Given the description of an element on the screen output the (x, y) to click on. 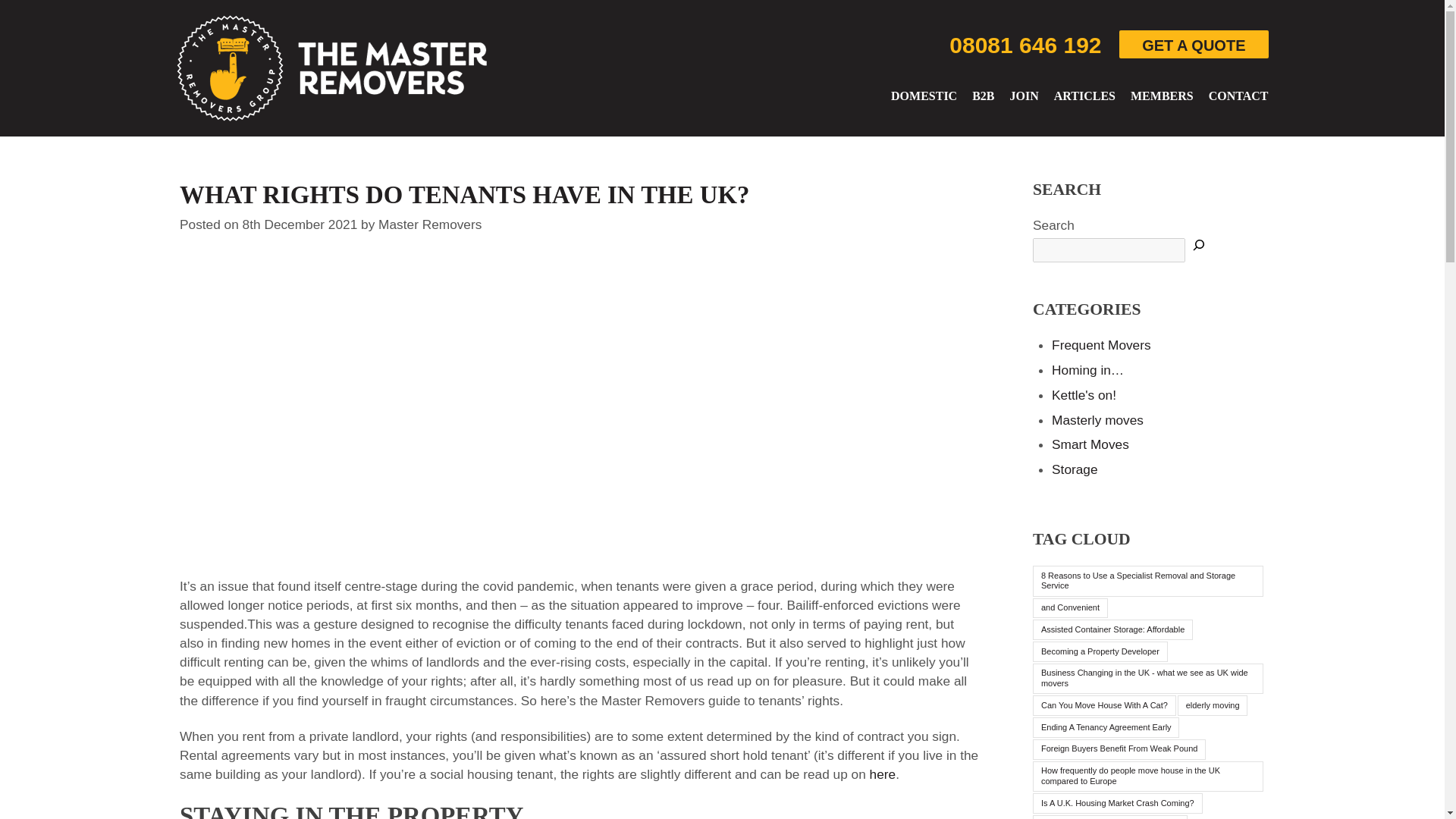
08081 646 192 (1024, 45)
MEMBERS (1162, 96)
Becoming a Property Developer (1099, 651)
Storage (1074, 468)
GET A QUOTE (1193, 44)
CONTACT (1238, 96)
Kettle's on! (1083, 394)
Masterly moves (1096, 419)
B2B (983, 96)
and Convenient (1070, 608)
